Given the description of an element on the screen output the (x, y) to click on. 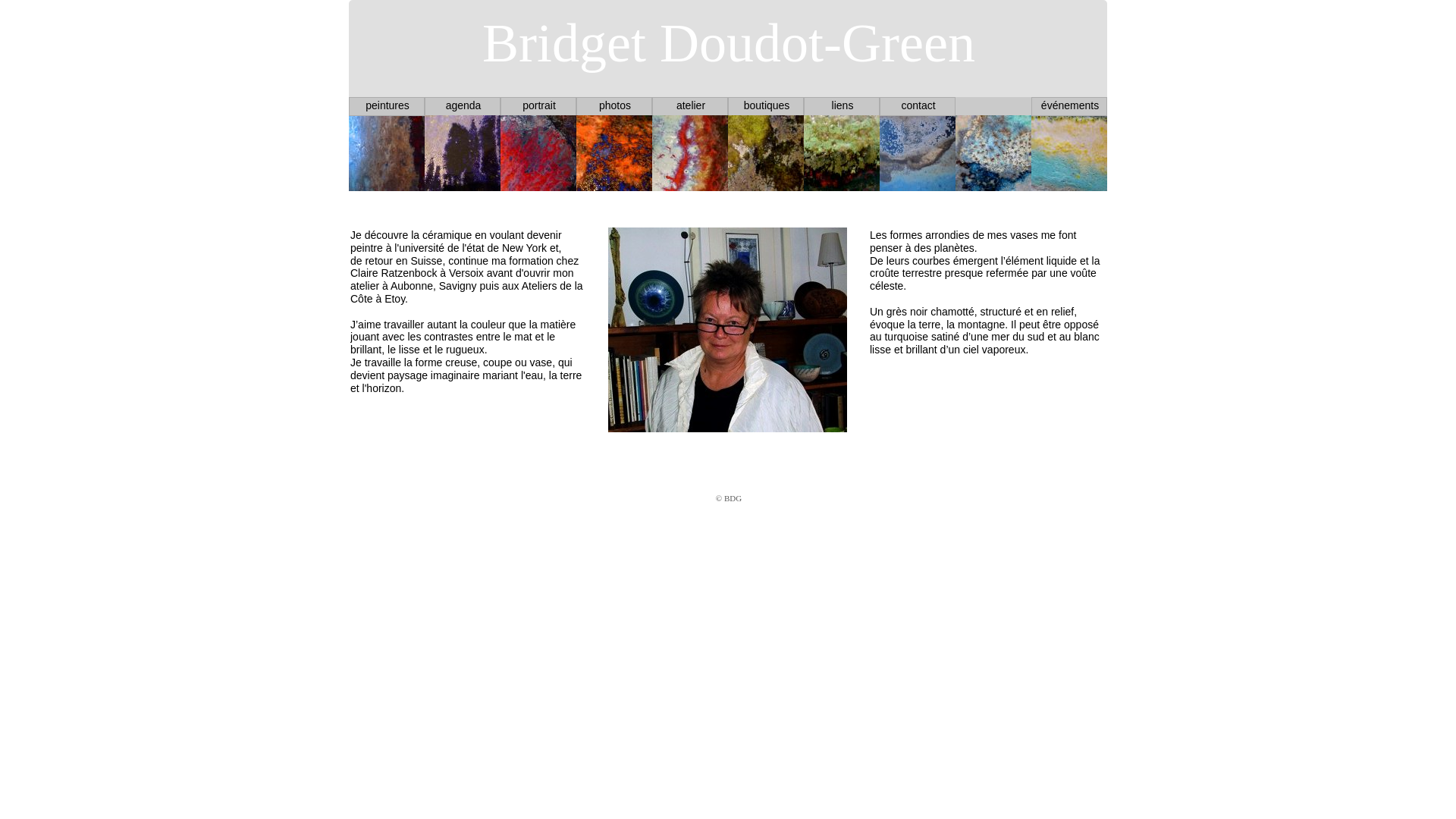
atelier Element type: text (690, 104)
photos Element type: text (614, 104)
peintures Element type: text (387, 104)
  Element type: text (349, 497)
portrait Element type: text (538, 104)
agenda Element type: text (463, 104)
contact Element type: text (917, 104)
boutiques Element type: text (766, 104)
liens Element type: text (842, 104)
  Element type: text (349, 6)
